Given the description of an element on the screen output the (x, y) to click on. 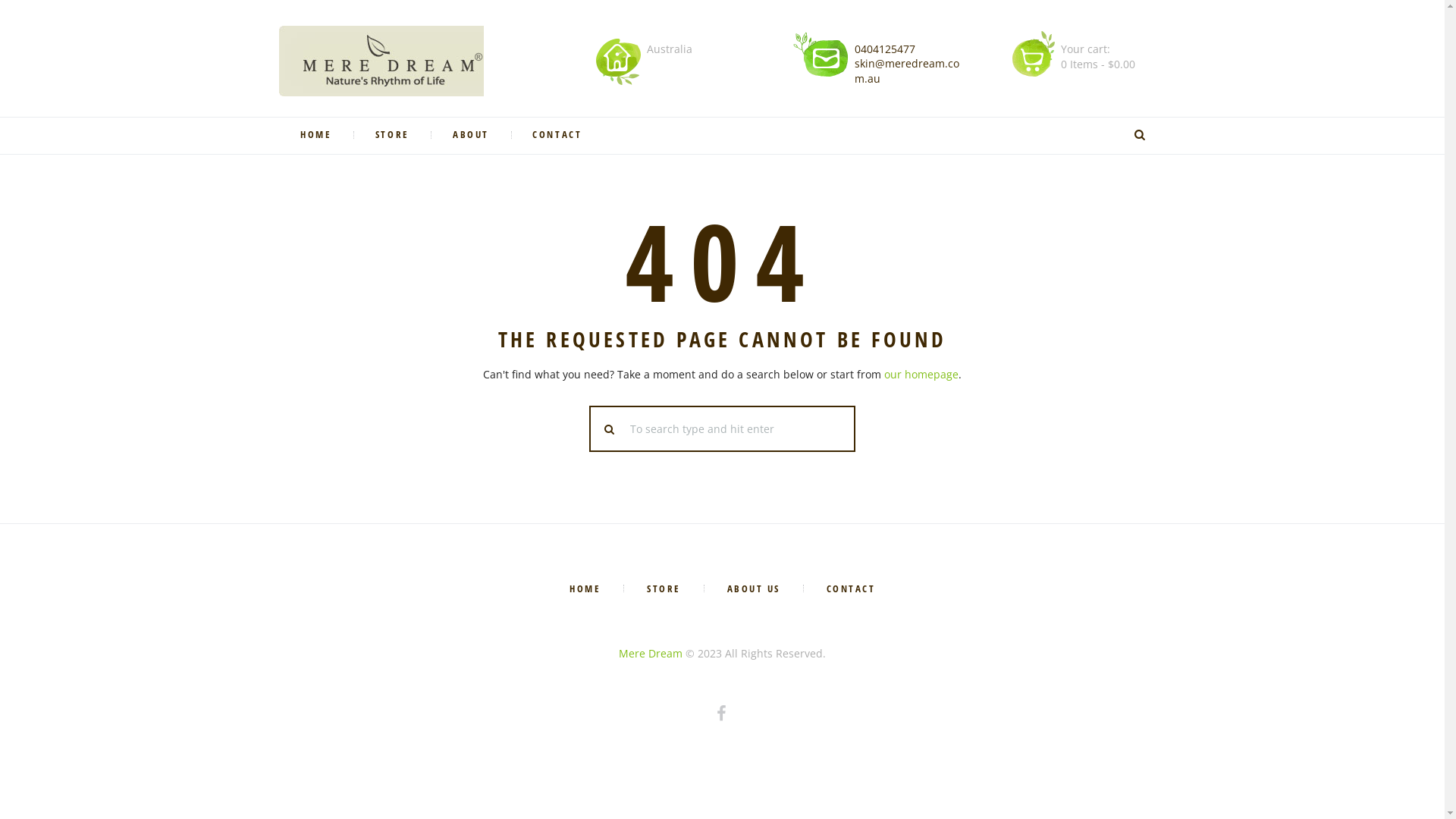
CONTACT Element type: text (557, 135)
ABOUT Element type: text (470, 135)
STORE Element type: text (391, 135)
Start search Element type: hover (610, 428)
ABOUT US Element type: text (752, 588)
Open search Element type: hover (1140, 134)
0404125477 Element type: text (884, 48)
HOME Element type: text (584, 588)
our homepage Element type: text (921, 374)
skin@meredream.com.au Element type: text (906, 70)
CONTACT Element type: text (850, 588)
Mere Dream Element type: text (650, 653)
HOME Element type: text (316, 135)
Your cart:
0 Items - $0.00 Element type: text (1100, 56)
STORE Element type: text (663, 588)
